Given the description of an element on the screen output the (x, y) to click on. 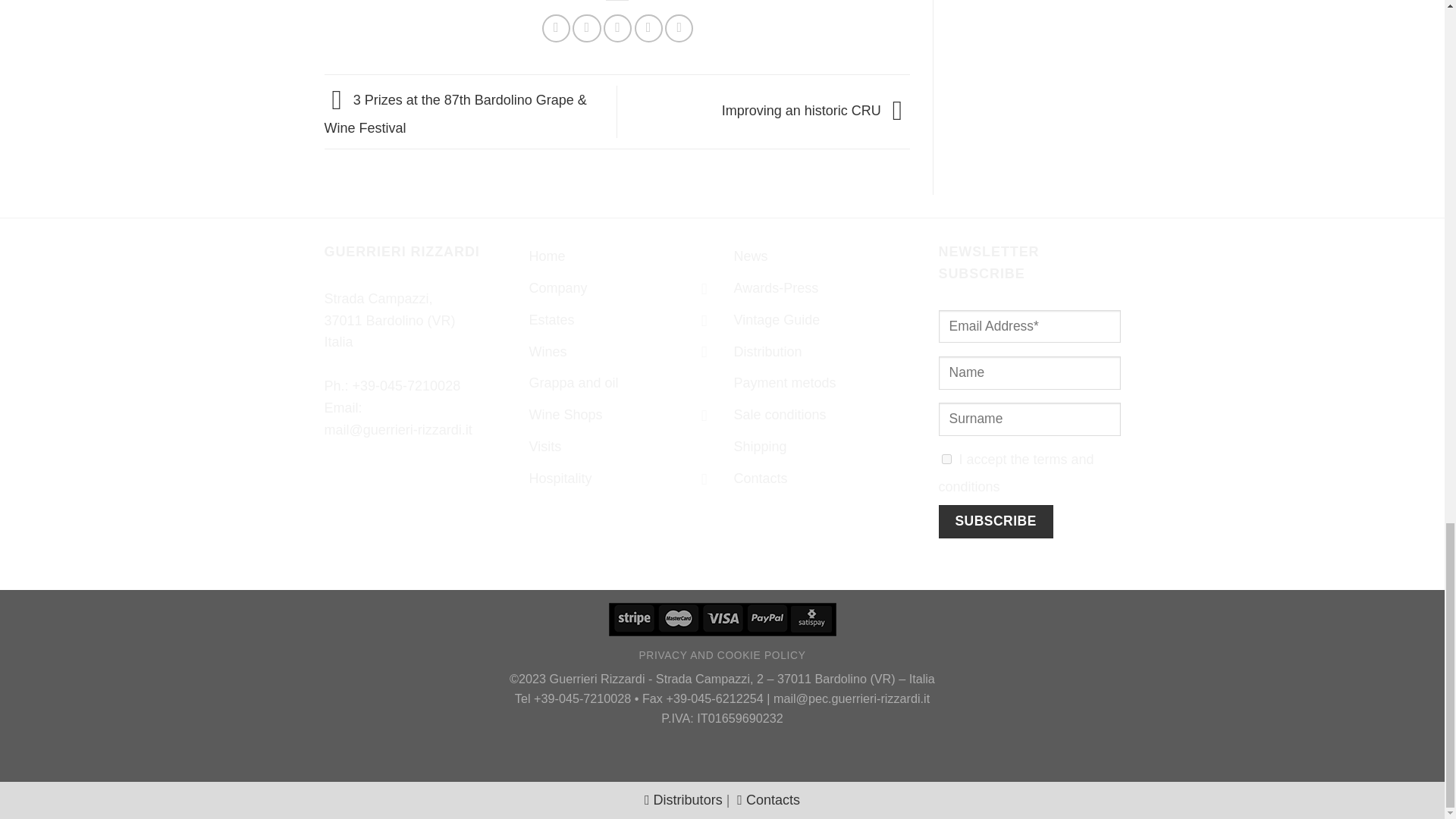
Share on LinkedIn (679, 28)
Pin on Pinterest (648, 28)
Email to a Friend (617, 28)
Subscribe (995, 521)
Share on Twitter (585, 28)
on (947, 459)
Share on Facebook (555, 28)
